Given the description of an element on the screen output the (x, y) to click on. 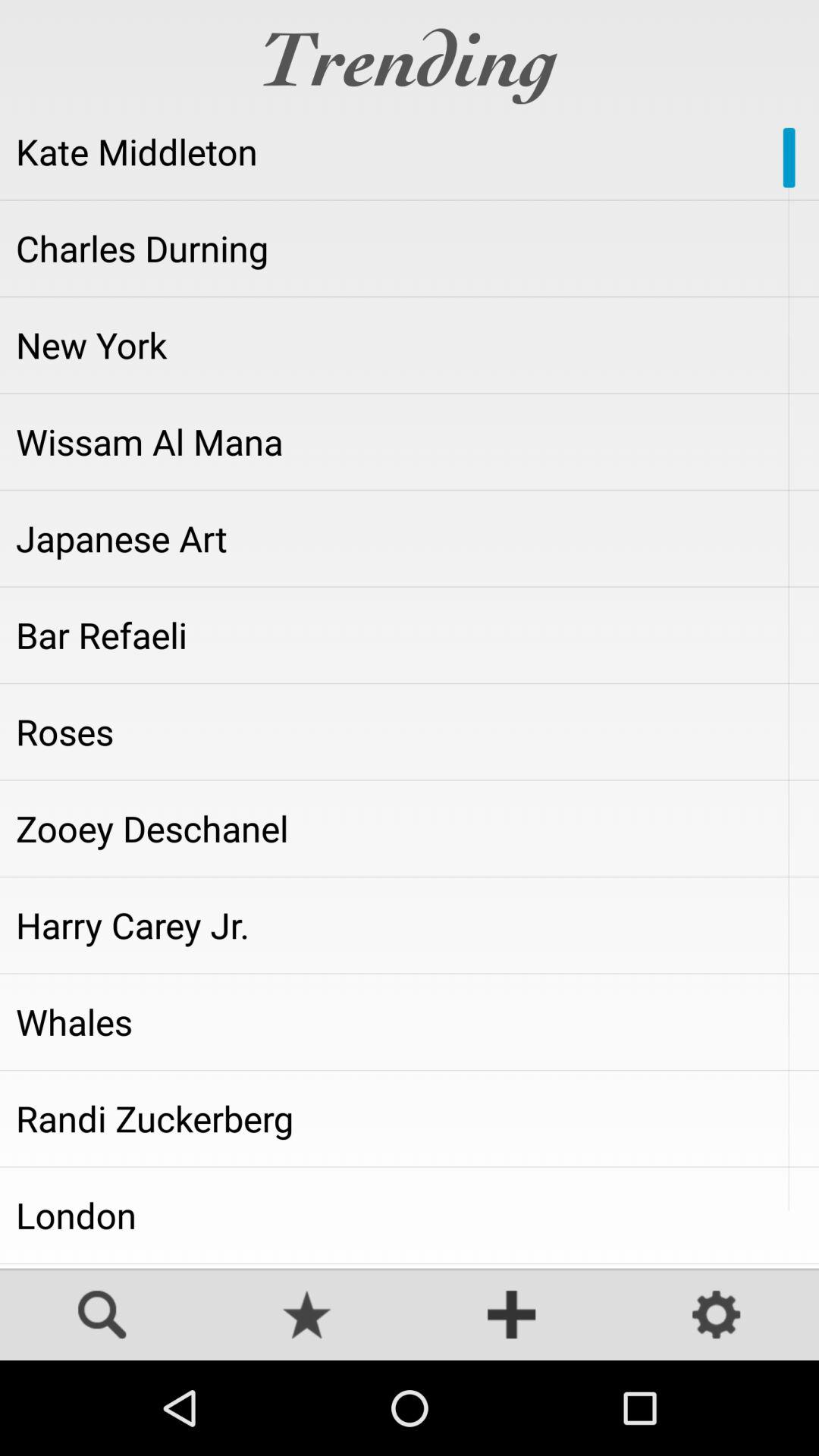
jump to kate middleton icon (409, 151)
